Given the description of an element on the screen output the (x, y) to click on. 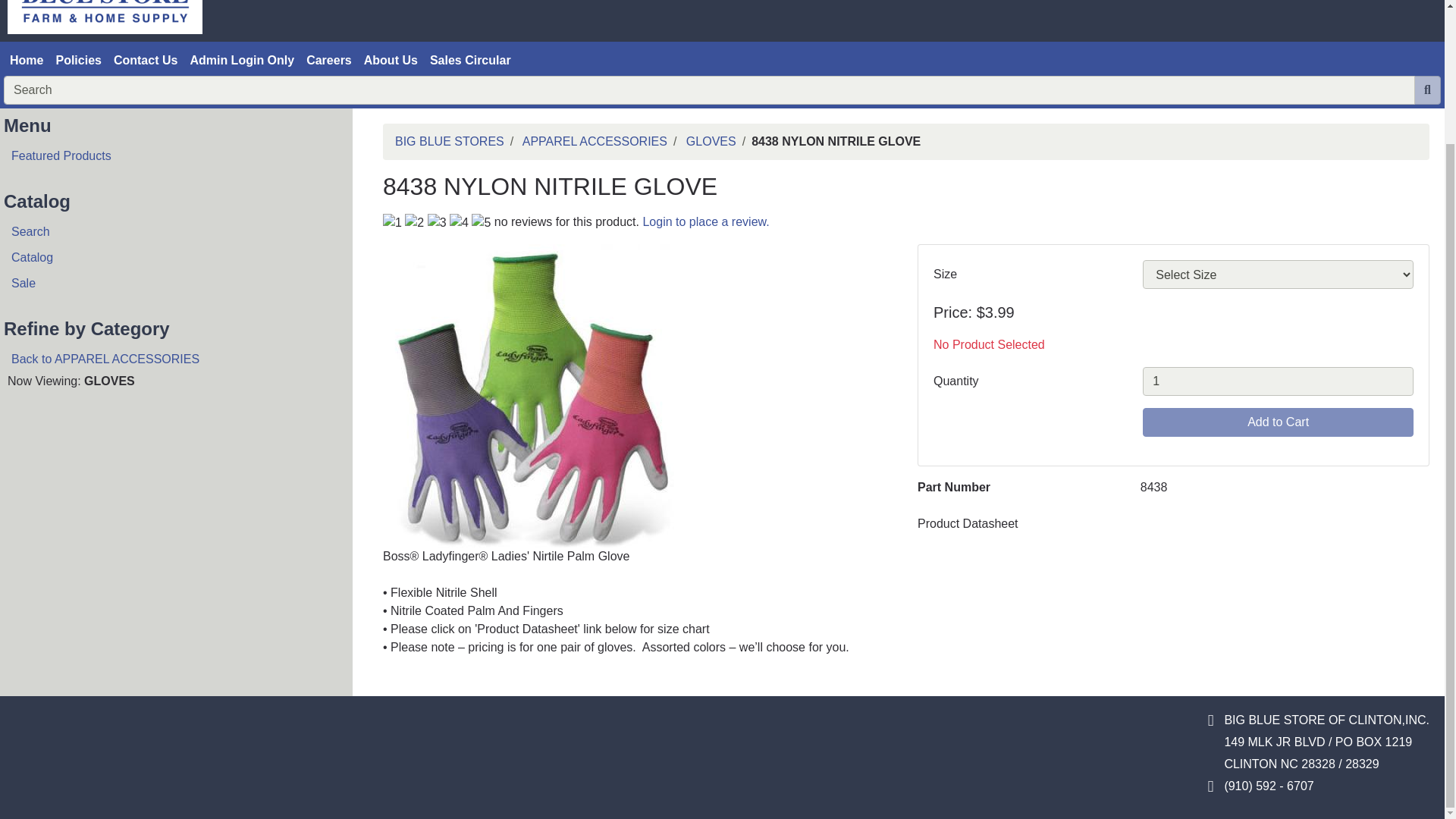
Not rated yet! (436, 221)
Sales Circular (469, 60)
Search (170, 231)
Add to Cart (1277, 421)
Not rated yet! (437, 222)
Back to APPAREL ACCESSORIES (170, 359)
Home (26, 60)
Not rated yet! (480, 222)
Policies (77, 60)
Featured Products (170, 155)
Not rated yet! (413, 222)
About Us (390, 60)
APPAREL ACCESSORIES (594, 141)
GLOVES (710, 141)
Sale (170, 283)
